Given the description of an element on the screen output the (x, y) to click on. 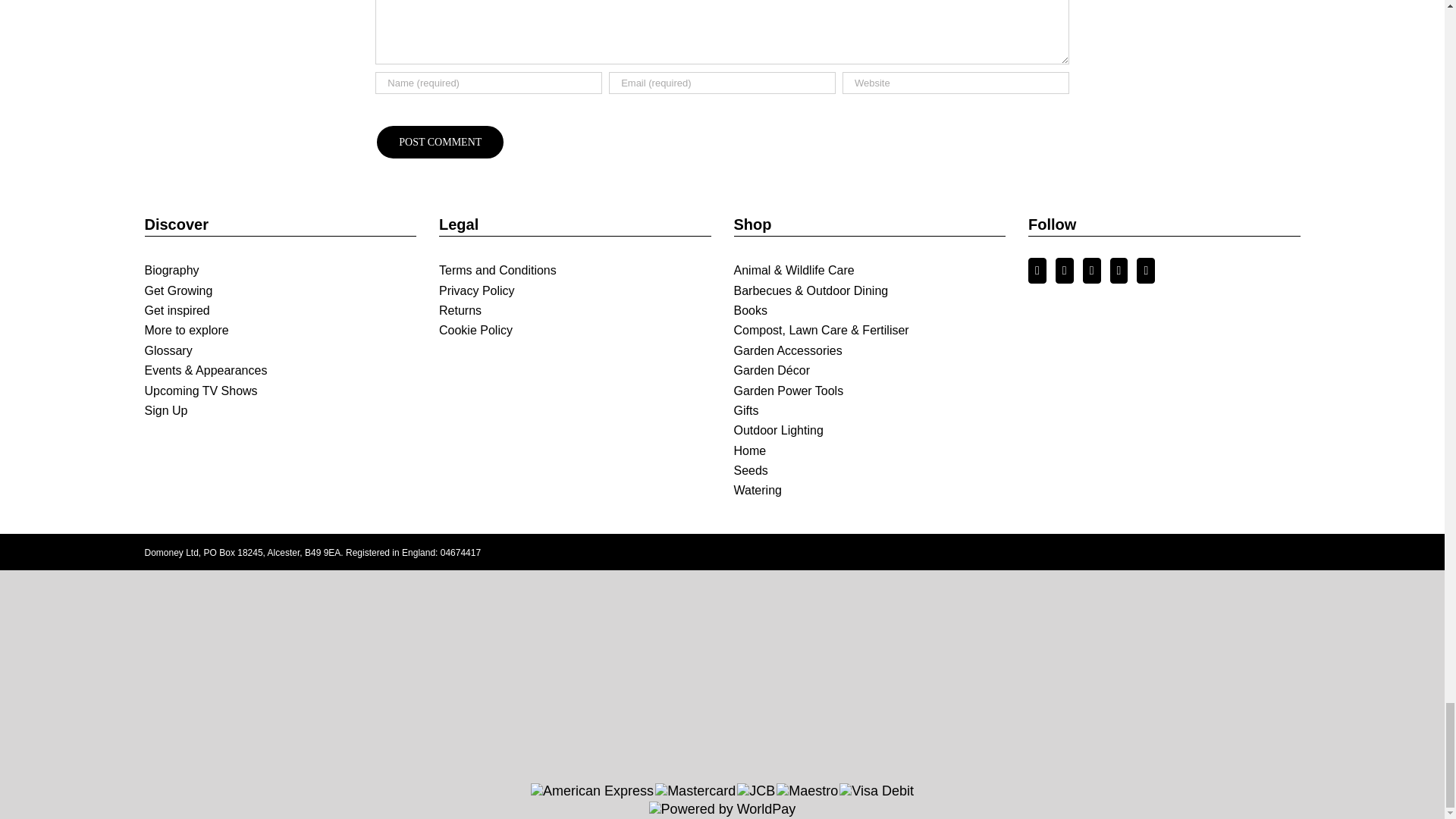
Post Comment (440, 141)
